Given the description of an element on the screen output the (x, y) to click on. 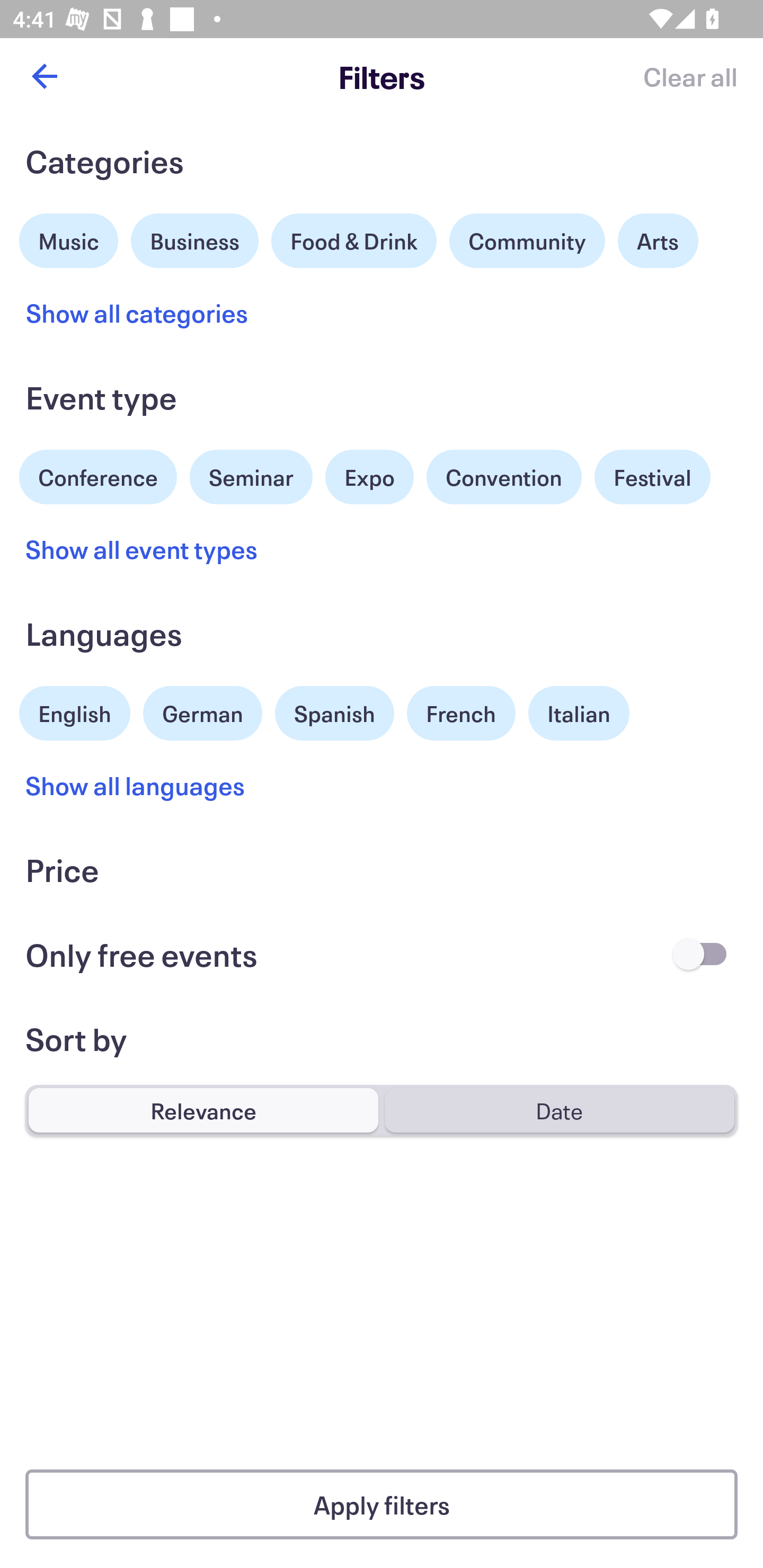
Back button (44, 75)
Clear all (690, 75)
Music (68, 238)
Business (194, 238)
Food & Drink (353, 240)
Community (527, 240)
Arts (658, 240)
Show all categories (136, 312)
Conference (98, 475)
Seminar (250, 477)
Expo (369, 477)
Convention (503, 477)
Festival (652, 477)
Show all event types (141, 548)
English (74, 710)
German (202, 710)
Spanish (334, 713)
French (460, 713)
Italian (578, 713)
Show all languages (135, 784)
Relevance (203, 1109)
Date (559, 1109)
Apply filters (381, 1504)
